Given the description of an element on the screen output the (x, y) to click on. 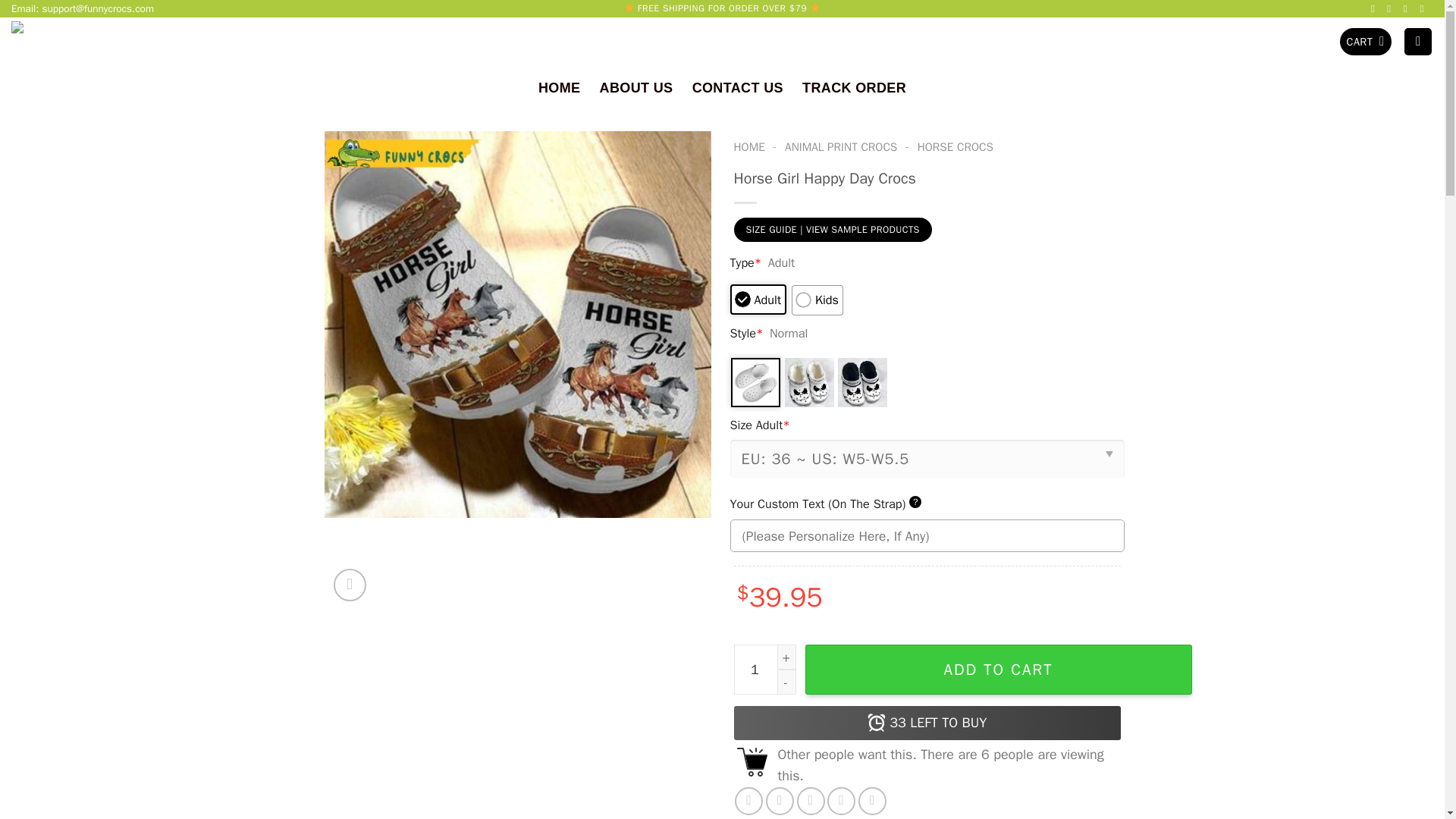
Follow on LinkedIn (1424, 8)
TRACK ORDER (853, 87)
ADD TO CART (998, 669)
HORSE CROCS (954, 146)
- (785, 681)
Cart (1365, 41)
Follow on Facebook (1376, 8)
HOME (749, 146)
ABOUT US (635, 87)
ANIMAL PRINT CROCS (840, 146)
HOME (558, 87)
Zoom (349, 584)
Send us an email (1392, 8)
